Given the description of an element on the screen output the (x, y) to click on. 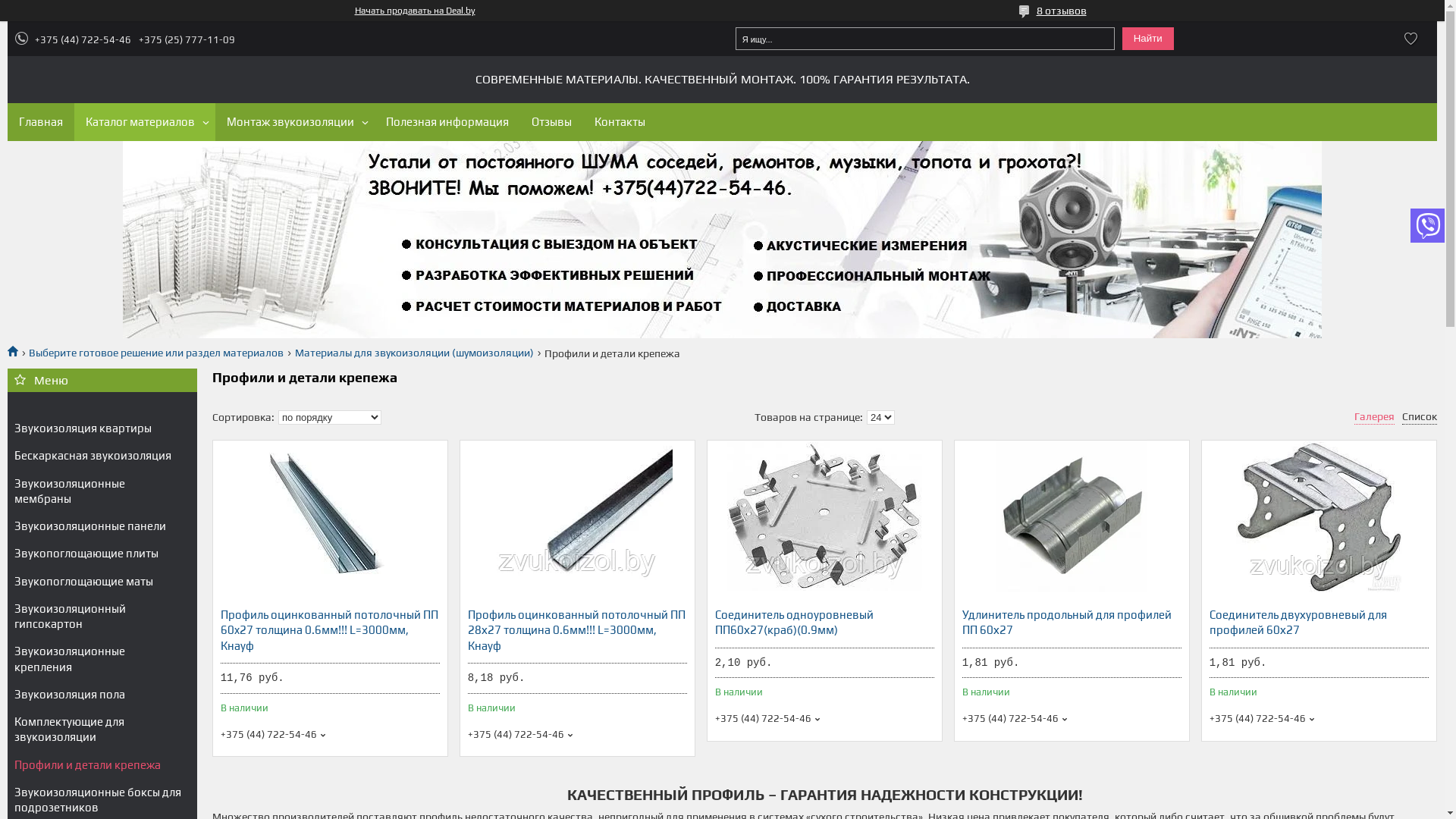
Zvukoizol.by Element type: hover (17, 350)
